Given the description of an element on the screen output the (x, y) to click on. 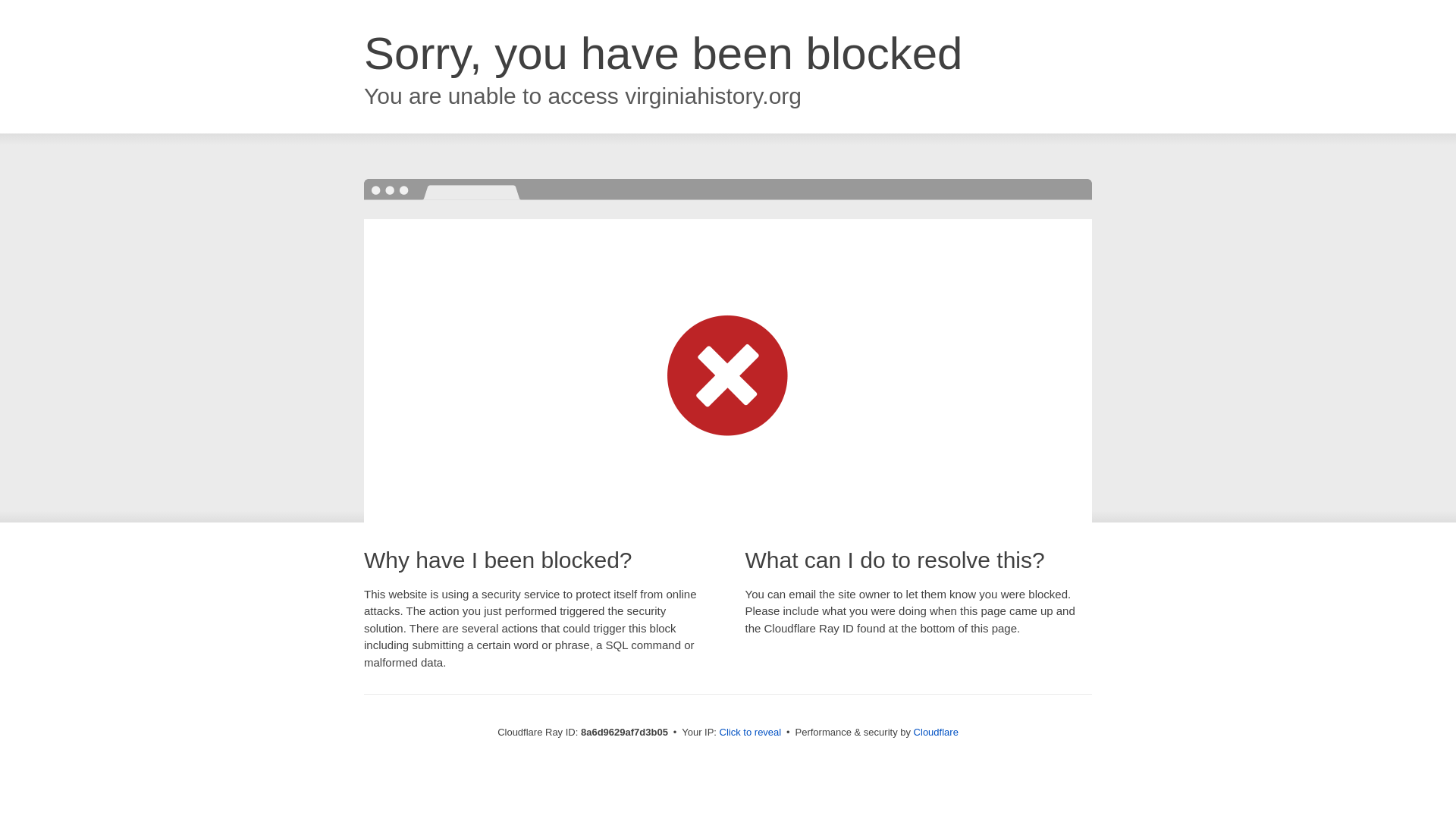
Click to reveal (750, 732)
Cloudflare (936, 731)
